Given the description of an element on the screen output the (x, y) to click on. 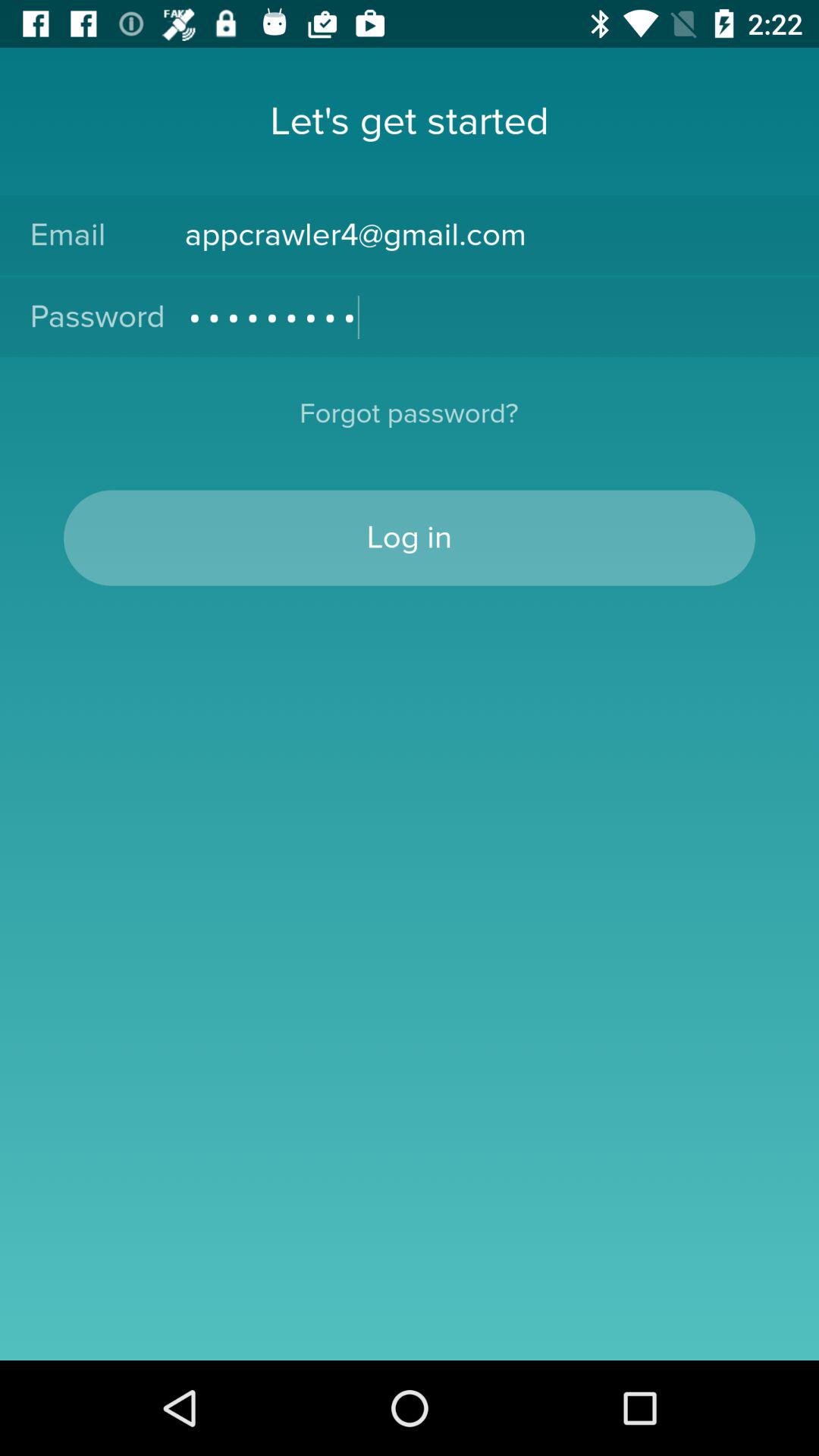
press icon above log in (408, 423)
